Given the description of an element on the screen output the (x, y) to click on. 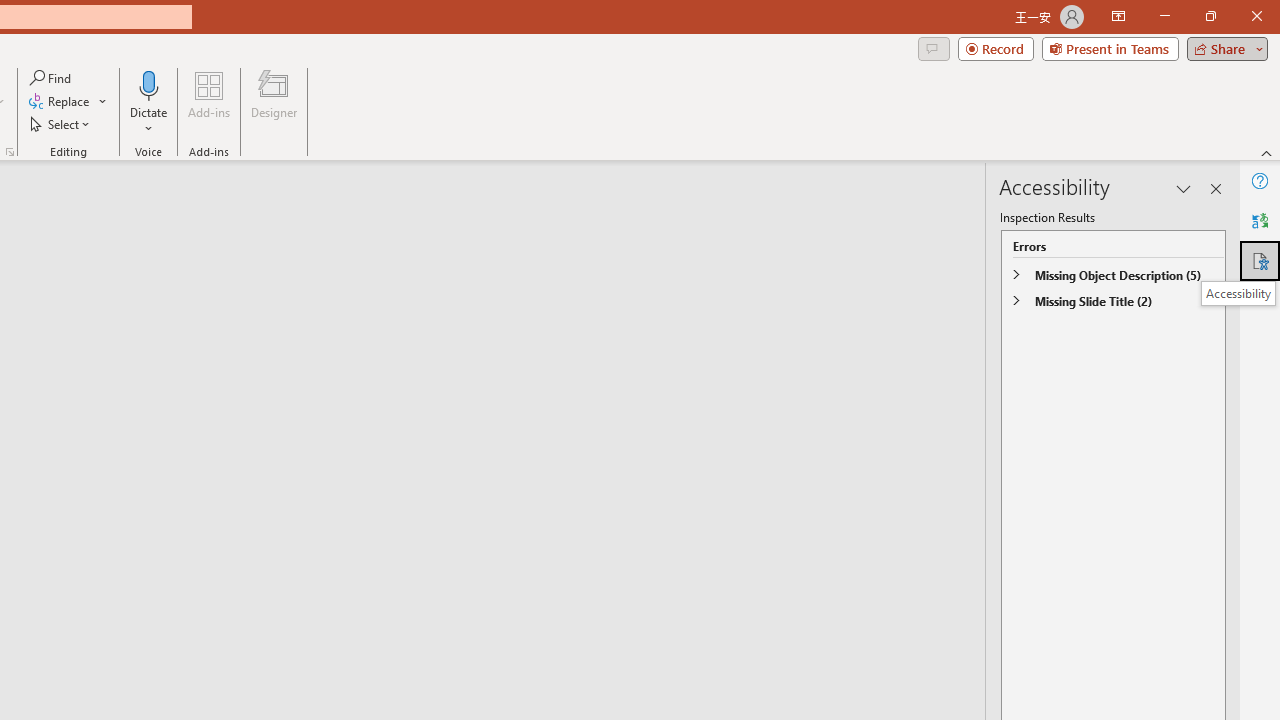
Designer (274, 102)
Translator (1260, 220)
Format Object... (9, 151)
Find... (51, 78)
